Given the description of an element on the screen output the (x, y) to click on. 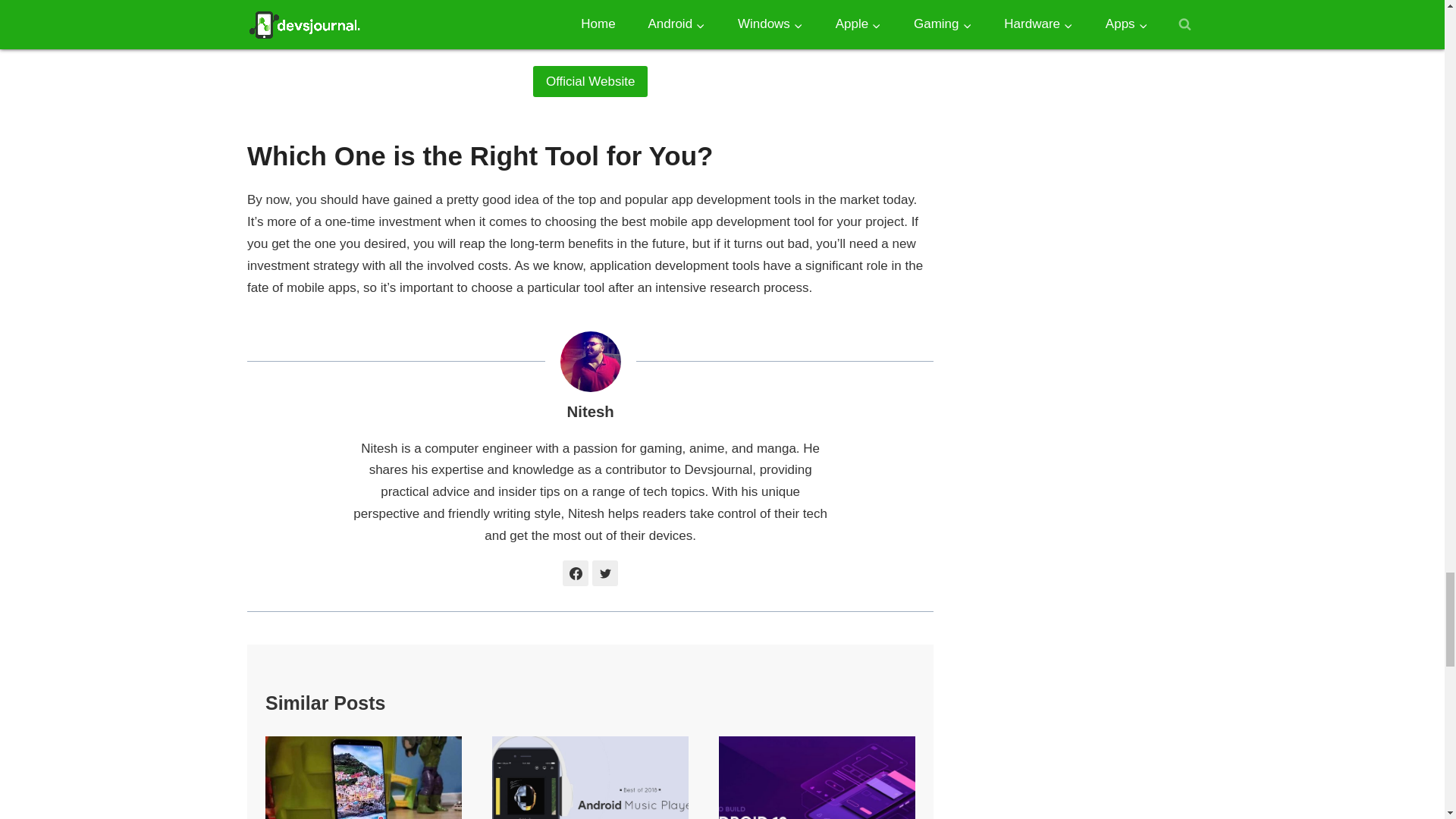
Posts by Nitesh (589, 411)
Follow Nitesh on Facebook (575, 573)
Follow Nitesh on Twitter (604, 573)
